Given the description of an element on the screen output the (x, y) to click on. 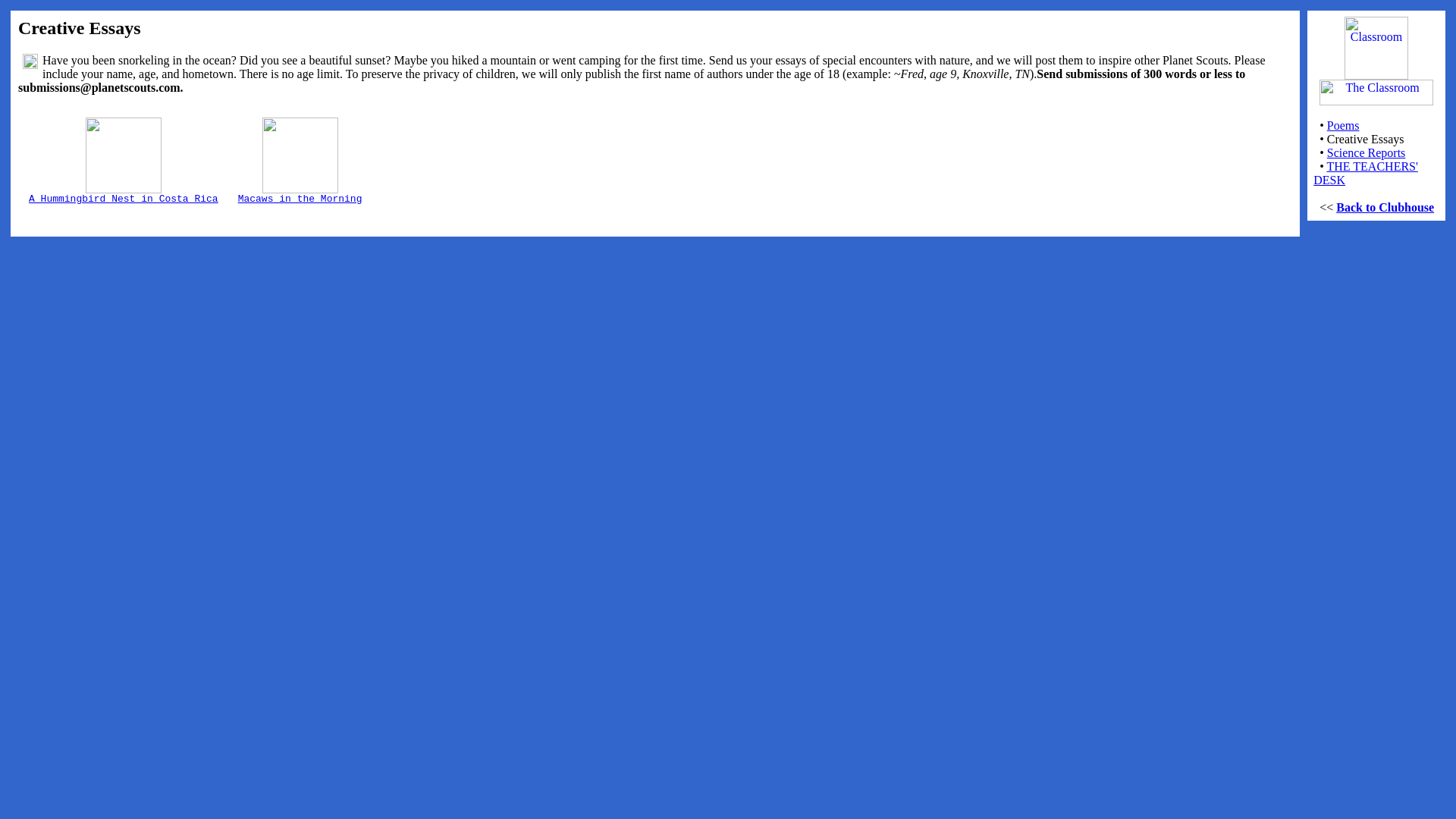
Macaws in the Morning (300, 192)
Science Reports (1366, 152)
Poems (1342, 124)
A Hummingbird Nest in Costa Rica (123, 192)
Back to Clubhouse (1385, 206)
THE TEACHERS' DESK (1365, 172)
